Given the description of an element on the screen output the (x, y) to click on. 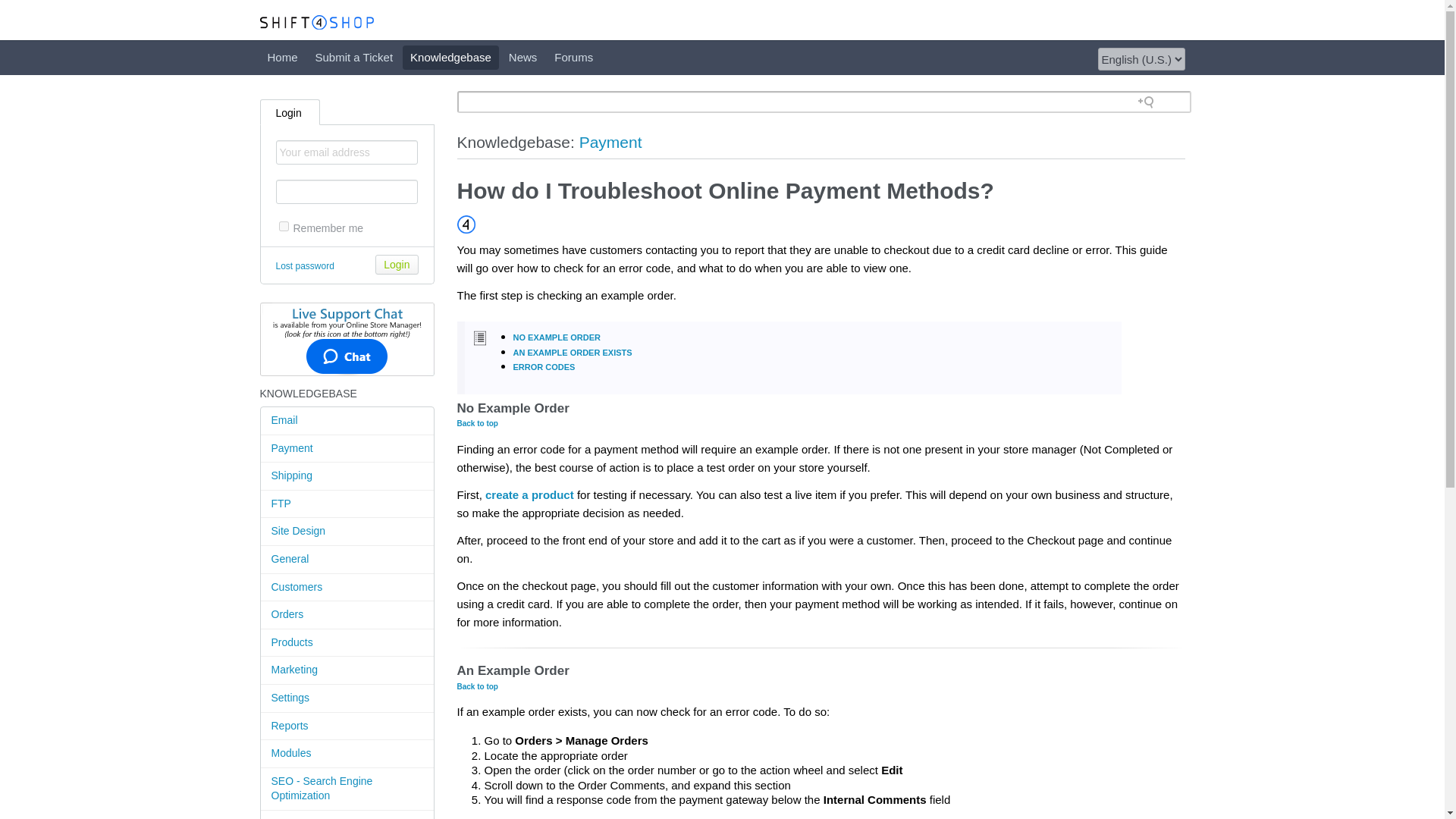
Email (346, 420)
Settings (346, 698)
Home (281, 57)
Marketing (346, 670)
Lost password (305, 266)
Login (290, 111)
Login (396, 264)
Orders (346, 615)
Forums (573, 57)
News (522, 57)
Login (396, 264)
Changing DNS Records (346, 814)
General (346, 560)
FTP (346, 504)
Payment (346, 448)
